Given the description of an element on the screen output the (x, y) to click on. 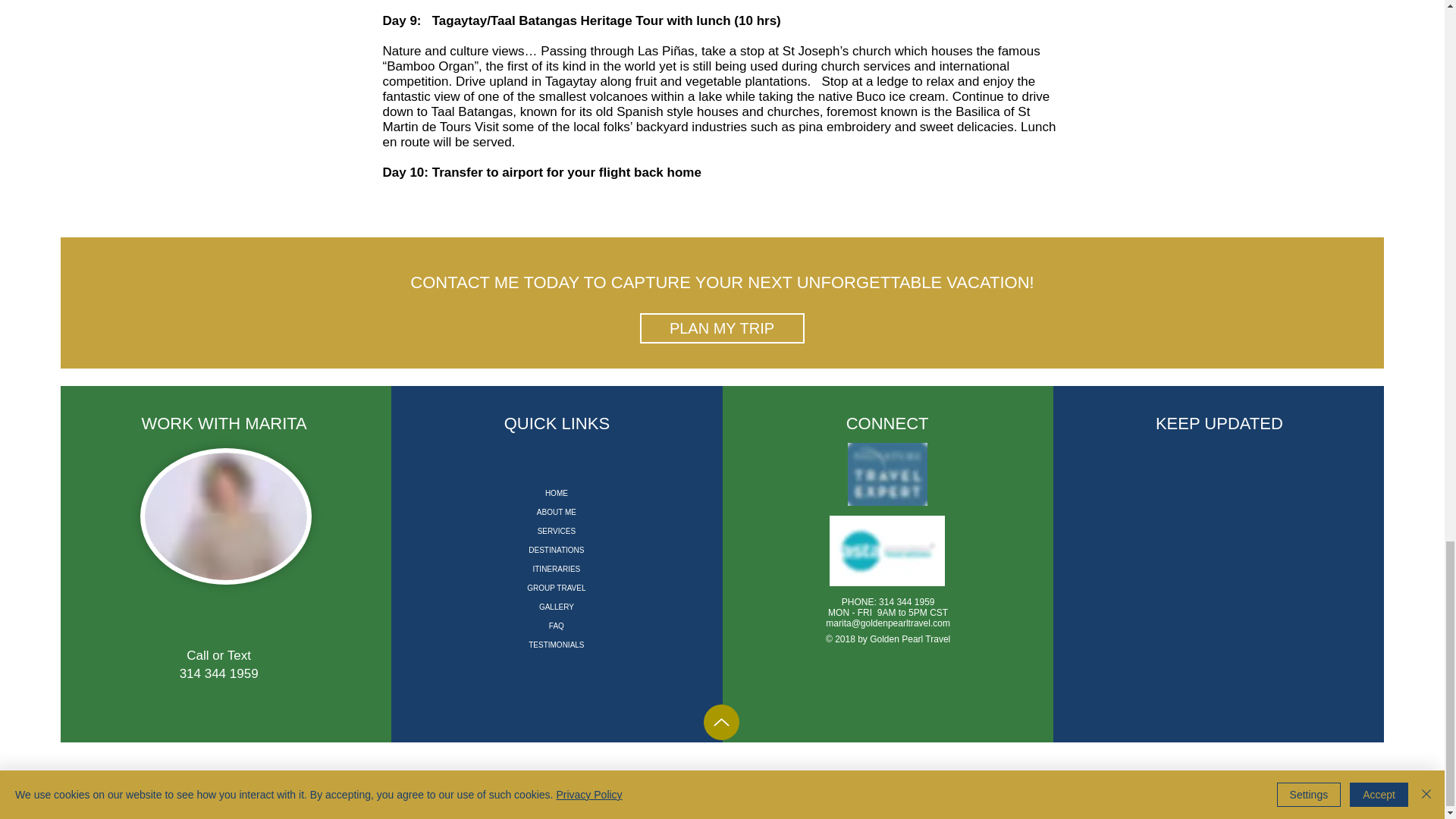
GROUP TRAVEL (556, 587)
HOME (556, 493)
FAQ (556, 625)
TESTIMONIALS (556, 644)
ABOUT ME (556, 511)
GALLERY (556, 606)
SERVICES (556, 530)
PLAN MY TRIP (722, 327)
